Given the description of an element on the screen output the (x, y) to click on. 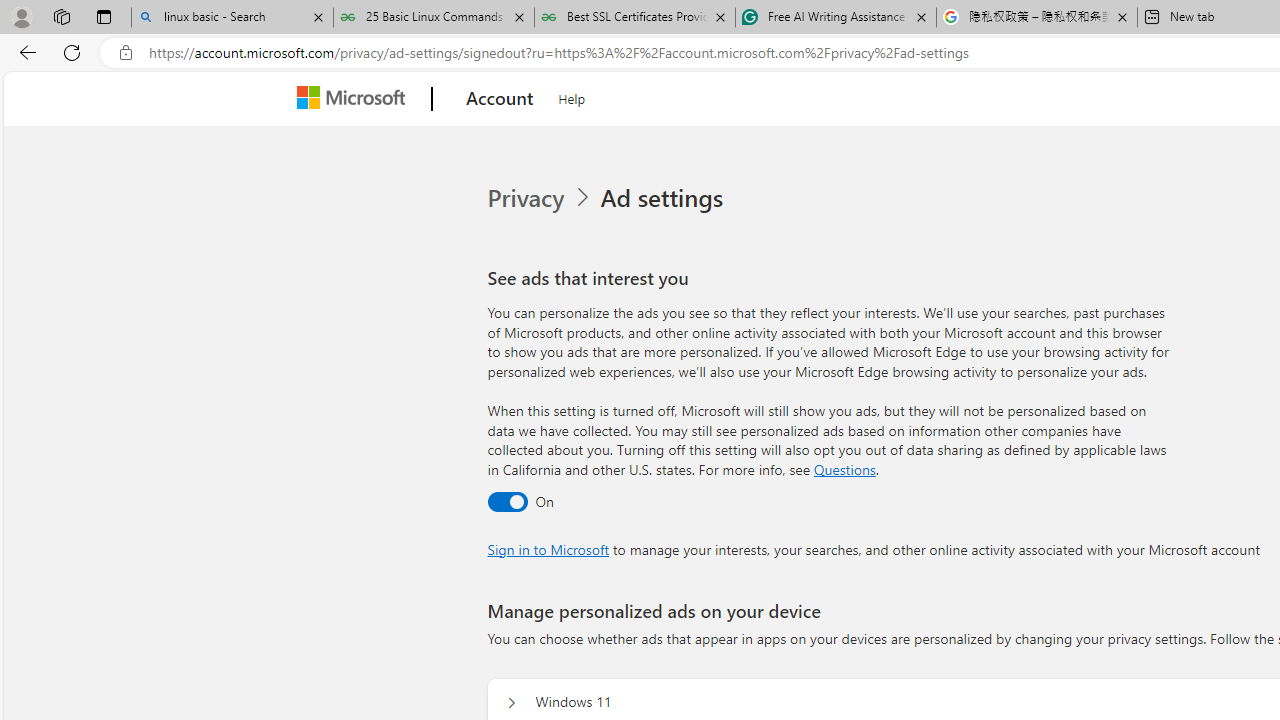
Best SSL Certificates Provider in India - GeeksforGeeks (634, 17)
Microsoft (354, 99)
Ad settings toggle (506, 501)
Privacy (527, 197)
Go to Questions section (843, 468)
Sign in to Microsoft (548, 548)
Free AI Writing Assistance for Students | Grammarly (835, 17)
Help (572, 96)
Help (572, 96)
